Given the description of an element on the screen output the (x, y) to click on. 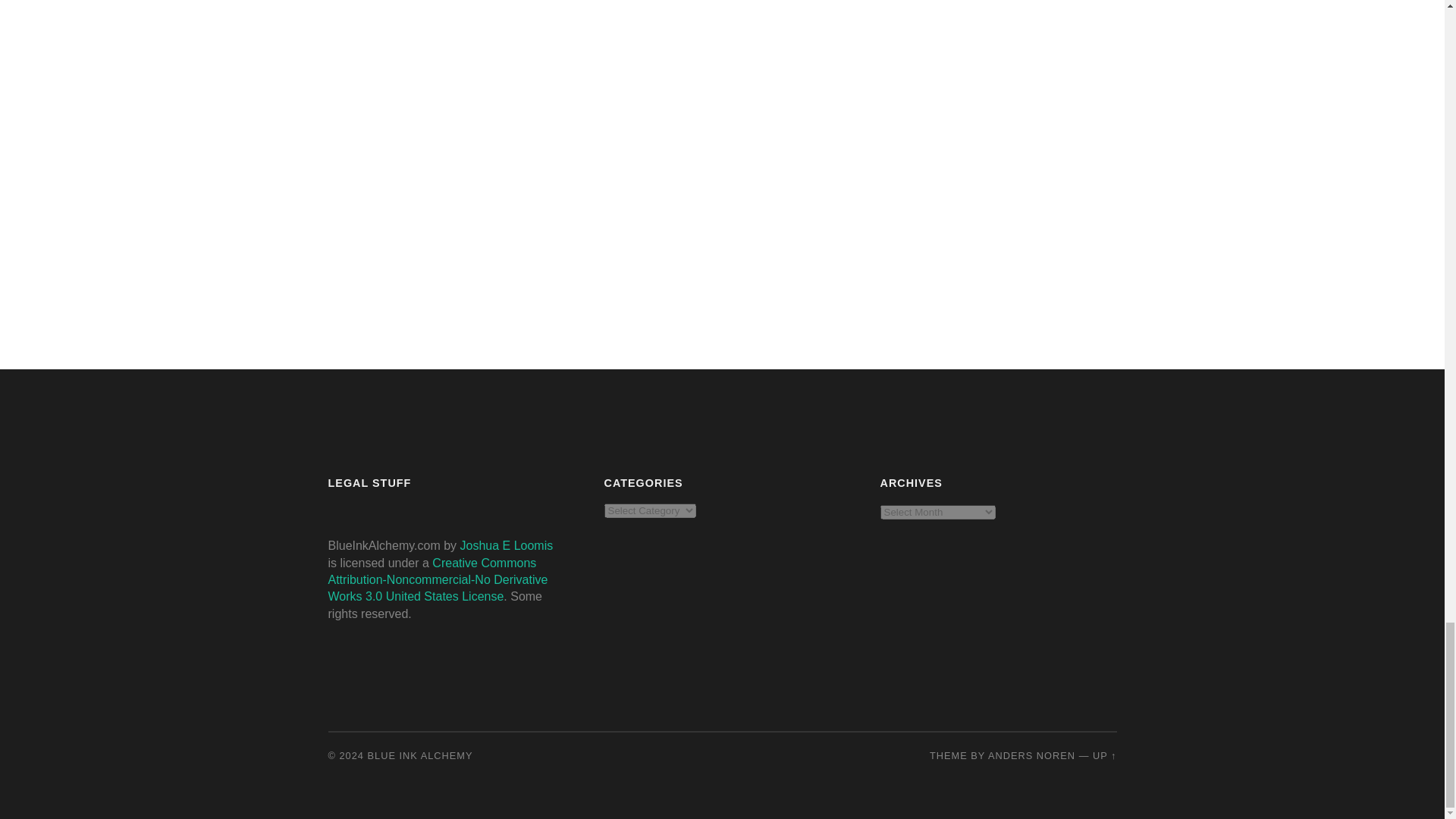
Comment Form (583, 129)
